Given the description of an element on the screen output the (x, y) to click on. 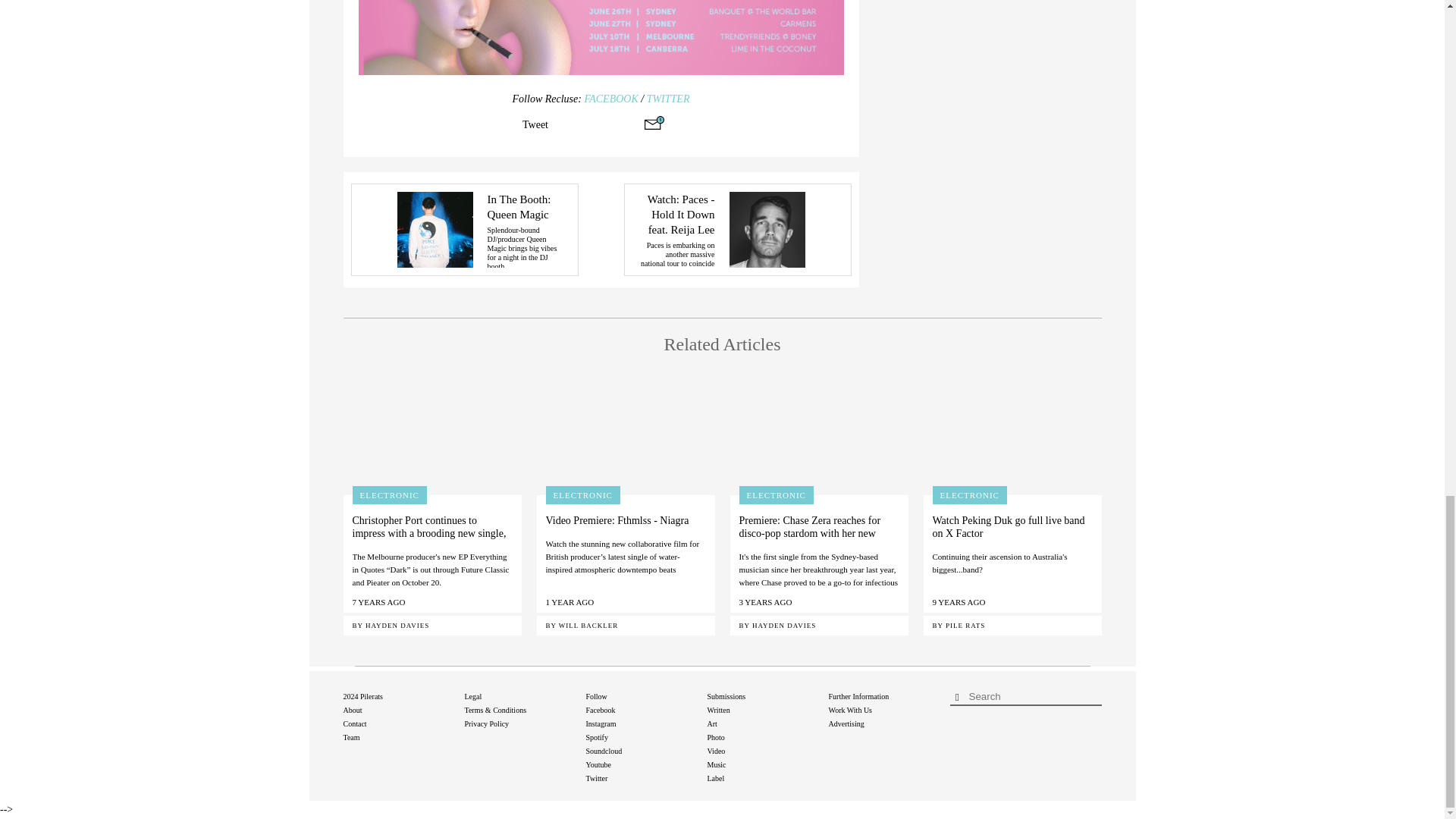
Share via email (654, 122)
Previous article: In The Booth: Queen Magic (464, 229)
Next article: Watch: Paces - Hold It Down feat. Reija Lee (736, 229)
